Given the description of an element on the screen output the (x, y) to click on. 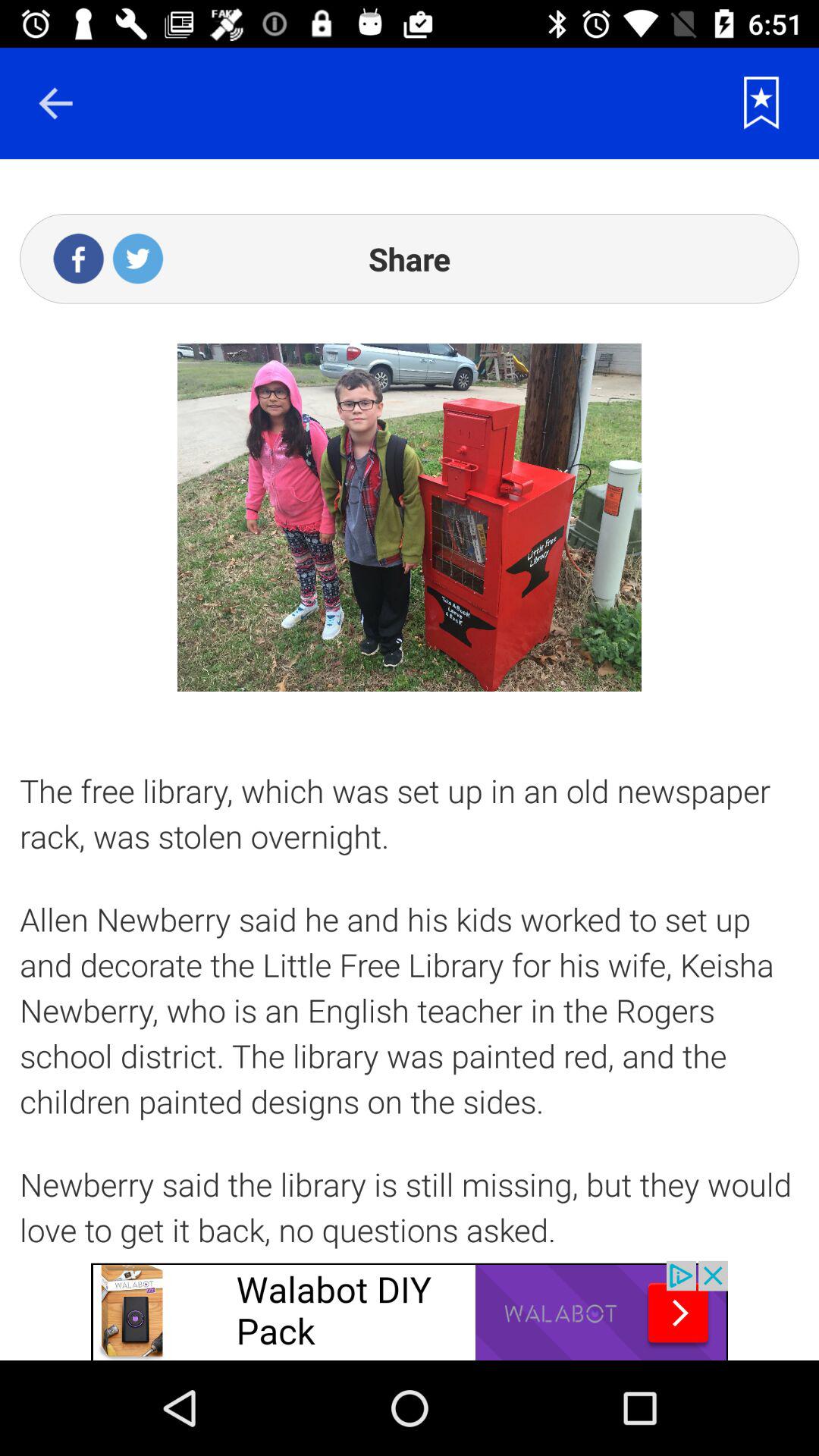
go back (55, 103)
